Given the description of an element on the screen output the (x, y) to click on. 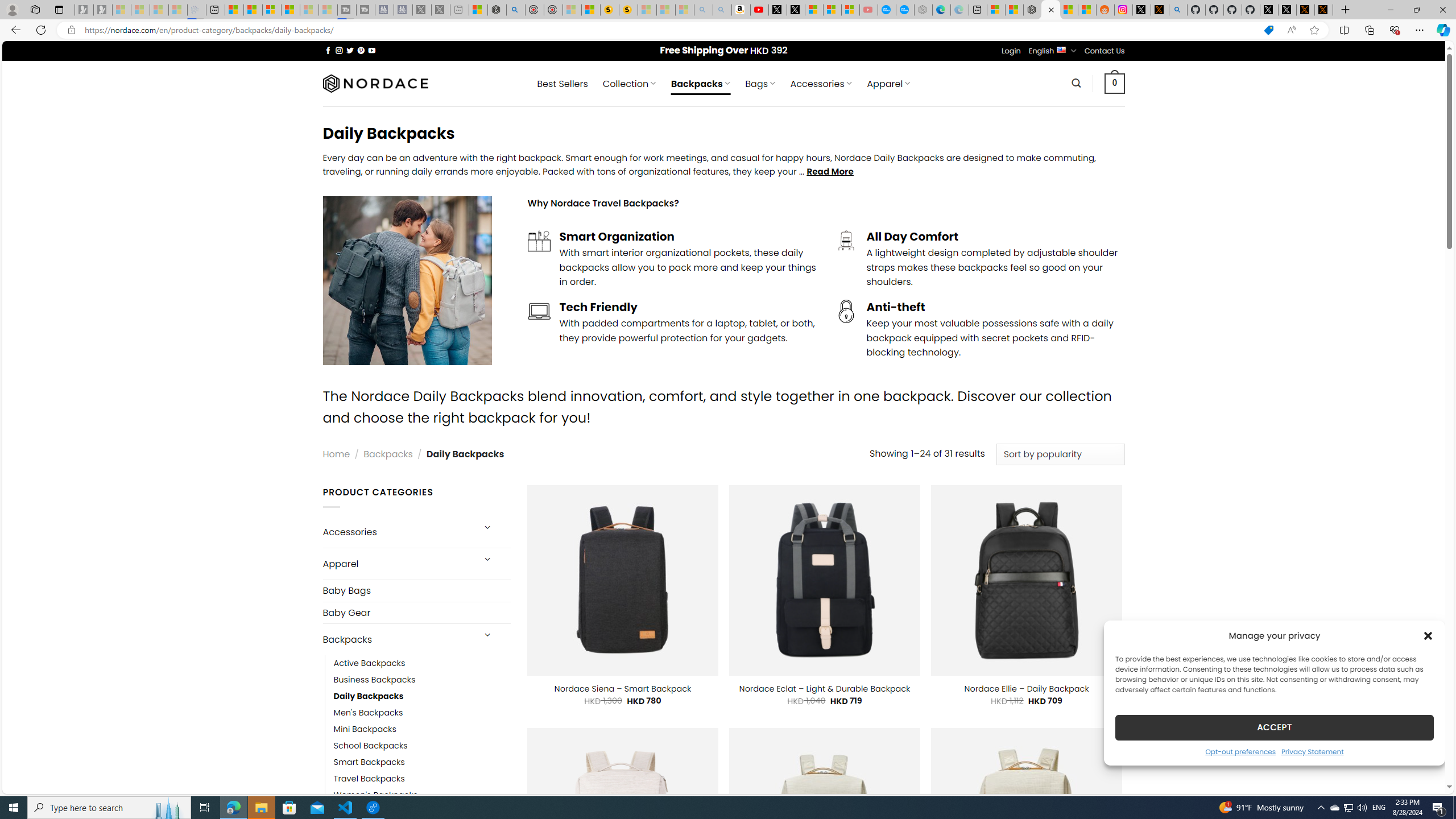
Shanghai, China Weather trends | Microsoft Weather (1086, 9)
Baby Bags (416, 590)
Business Backpacks (374, 679)
Men's Backpacks (422, 712)
Log in to X / X (1142, 9)
Mini Backpacks (364, 729)
Follow on YouTube (371, 49)
